Given the description of an element on the screen output the (x, y) to click on. 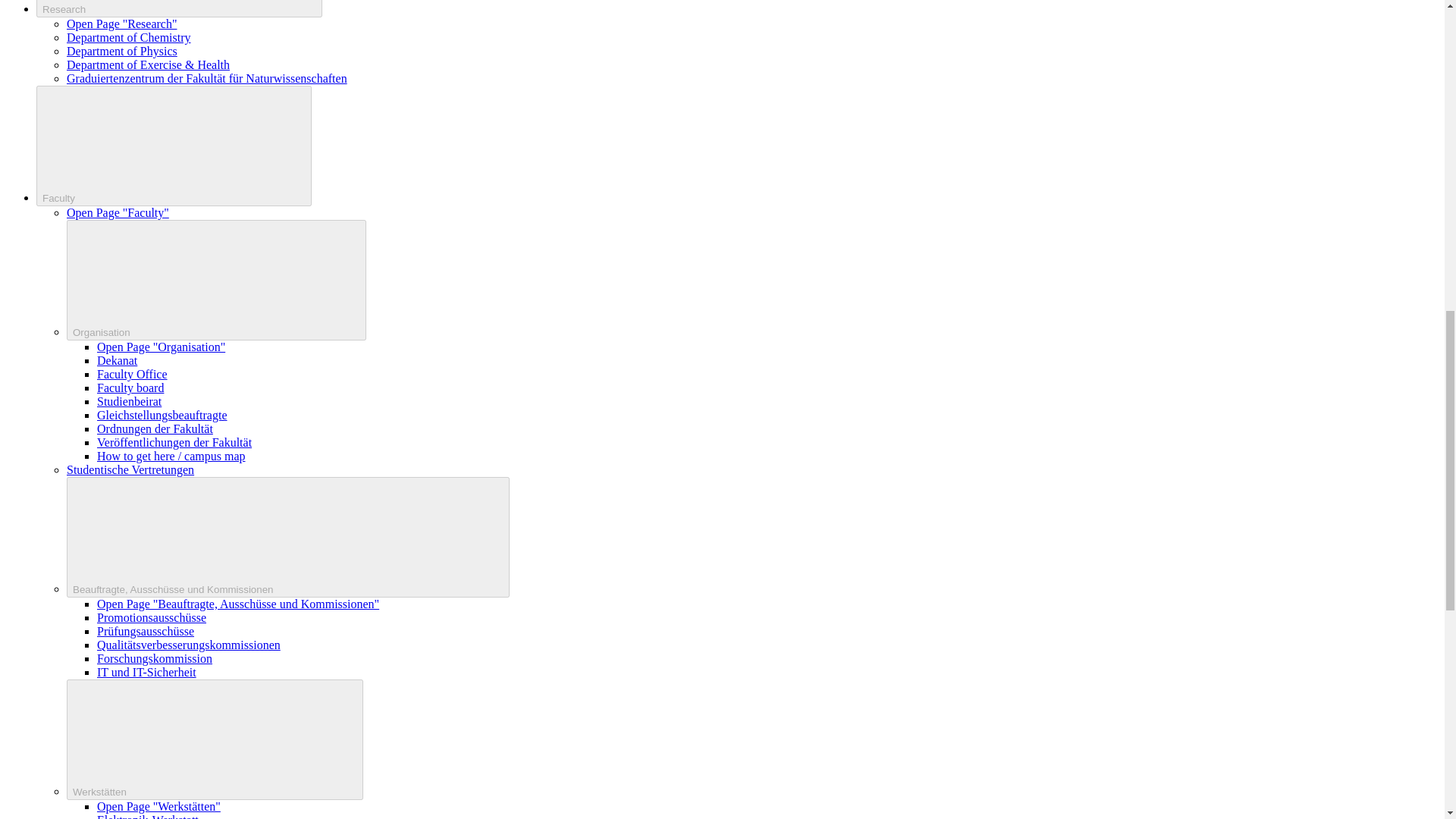
Studienbeirat (129, 400)
Department of Physics (121, 51)
toggle submenu (216, 280)
Open Page "Research" (121, 23)
Organisation (216, 280)
toggle submenu (214, 739)
Dekanat (116, 359)
Faculty Office (132, 373)
Faculty board (130, 387)
Open Page "Faculty" (117, 212)
Studentische Vertretungen (129, 469)
Department of Chemistry (128, 37)
Faculty (173, 145)
toggle submenu (178, 8)
Open Page "Organisation" (161, 346)
